Given the description of an element on the screen output the (x, y) to click on. 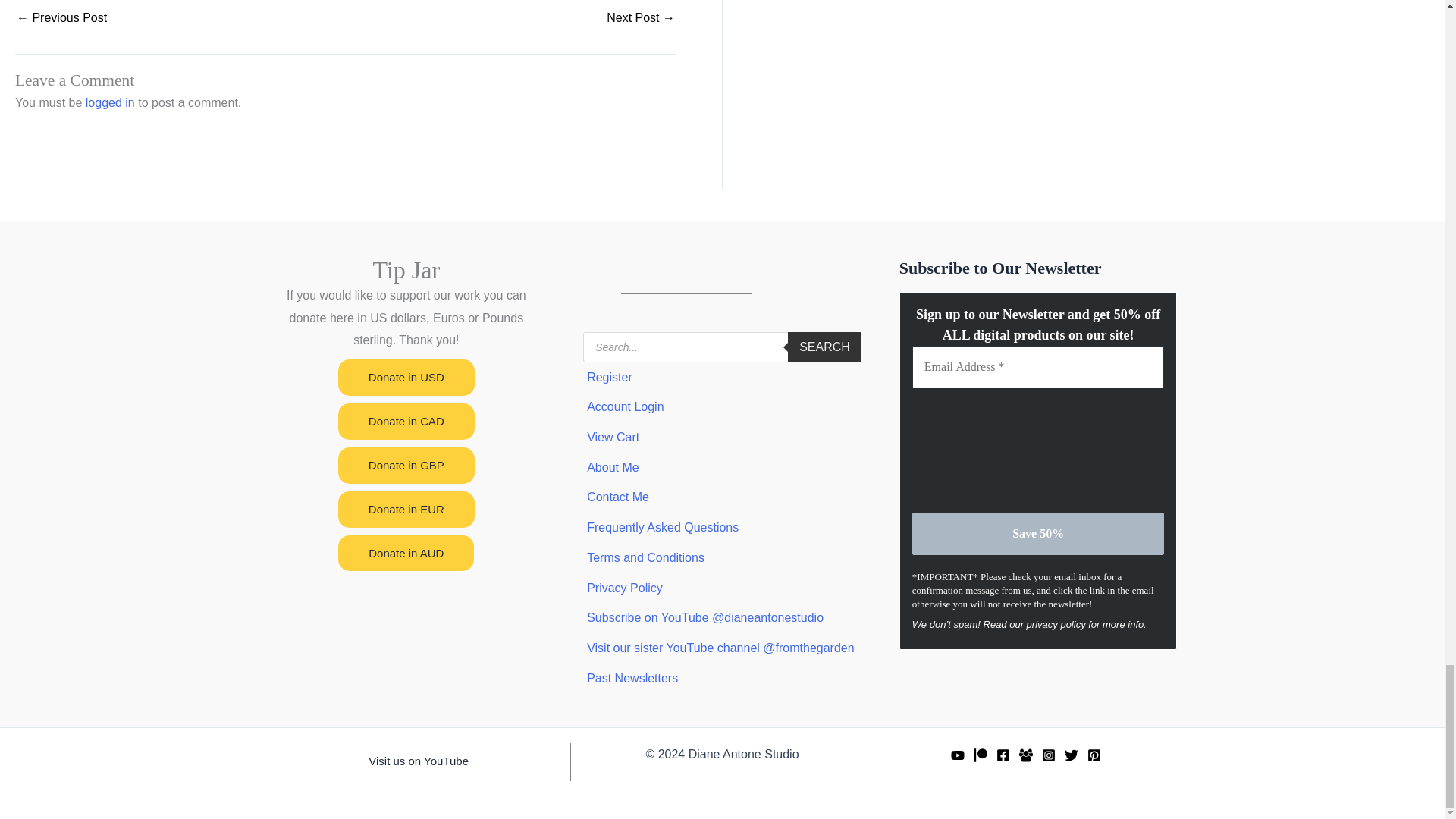
Paint a Cute Cat in a Flowerbed (641, 18)
Email Address (1038, 366)
reCAPTCHA (974, 457)
Getting Back into the Flow with Florals (61, 18)
